Given the description of an element on the screen output the (x, y) to click on. 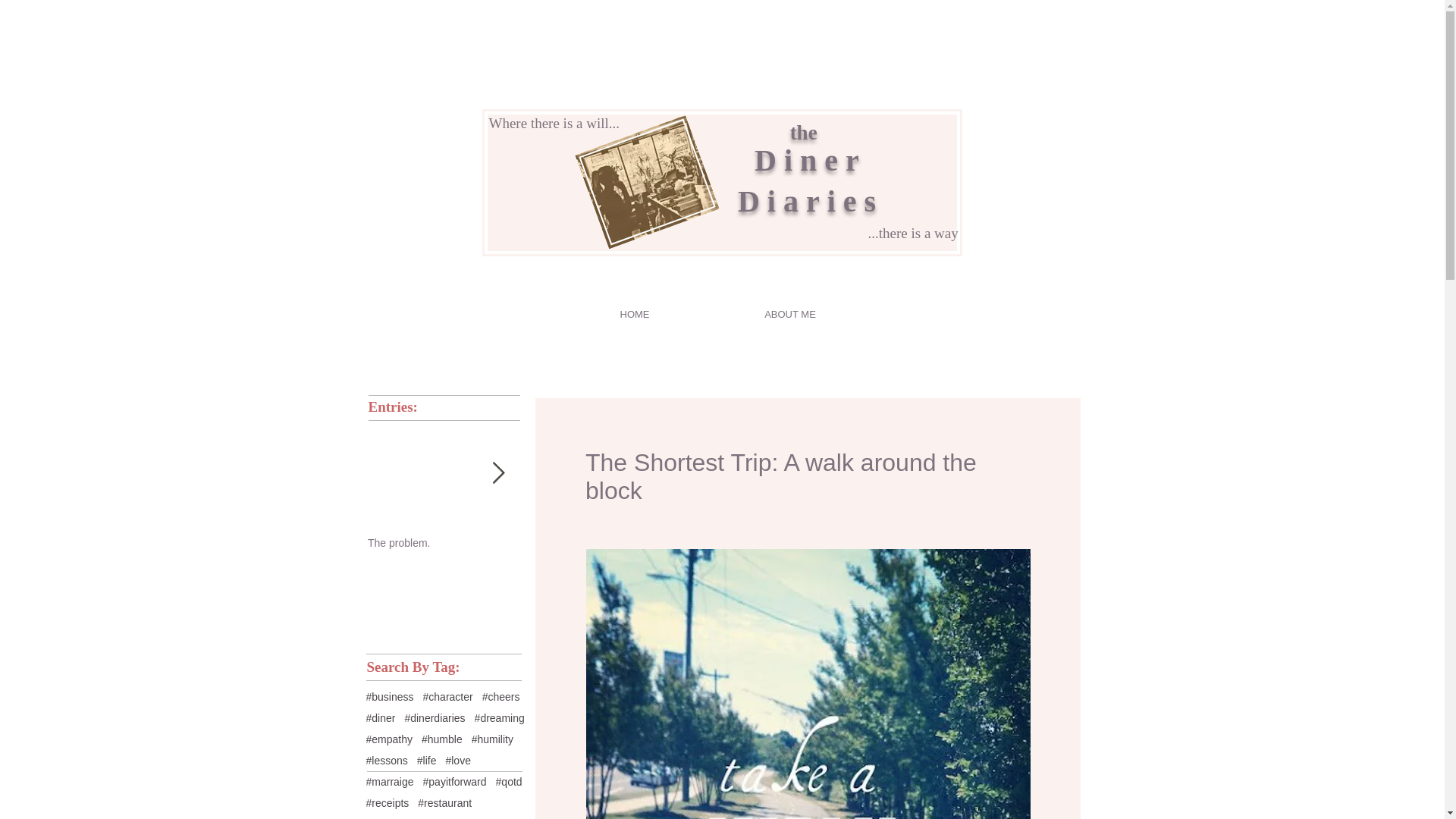
2023 (600, 542)
Rely on yourself for approval, not the outside world (1222, 549)
The problem. (444, 542)
This is war. (1066, 542)
A glimpse of love (755, 542)
